Given the description of an element on the screen output the (x, y) to click on. 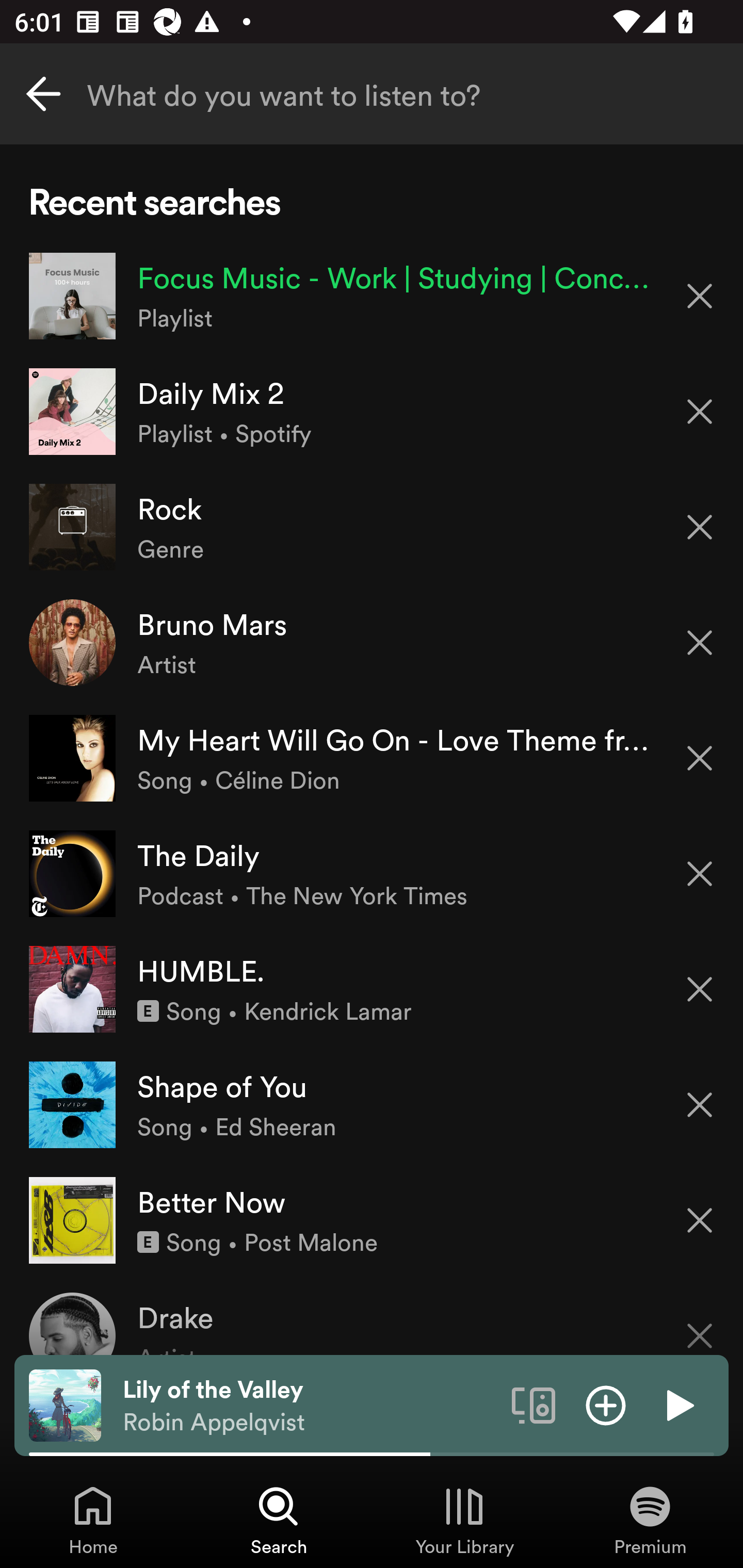
What do you want to listen to? (371, 93)
Cancel (43, 93)
Remove (699, 295)
Daily Mix 2 Playlist • Spotify Remove (371, 411)
Remove (699, 411)
Rock Genre Remove (371, 526)
Remove (699, 527)
Bruno Mars Artist Remove (371, 642)
Remove (699, 642)
Remove (699, 758)
The Daily Podcast • The New York Times Remove (371, 873)
Remove (699, 874)
HUMBLE. Explicit Song • Kendrick Lamar Remove (371, 989)
Remove (699, 989)
Shape of You Song • Ed Sheeran Remove (371, 1104)
Remove (699, 1104)
Better Now Explicit Song • Post Malone Remove (371, 1219)
Remove (699, 1220)
Drake Artist Remove (371, 1315)
Remove (699, 1323)
Lily of the Valley Robin Appelqvist (309, 1405)
The cover art of the currently playing track (64, 1404)
Connect to a device. Opens the devices menu (533, 1404)
Add item (605, 1404)
Play (677, 1404)
Home, Tab 1 of 4 Home Home (92, 1519)
Search, Tab 2 of 4 Search Search (278, 1519)
Your Library, Tab 3 of 4 Your Library Your Library (464, 1519)
Premium, Tab 4 of 4 Premium Premium (650, 1519)
